Given the description of an element on the screen output the (x, y) to click on. 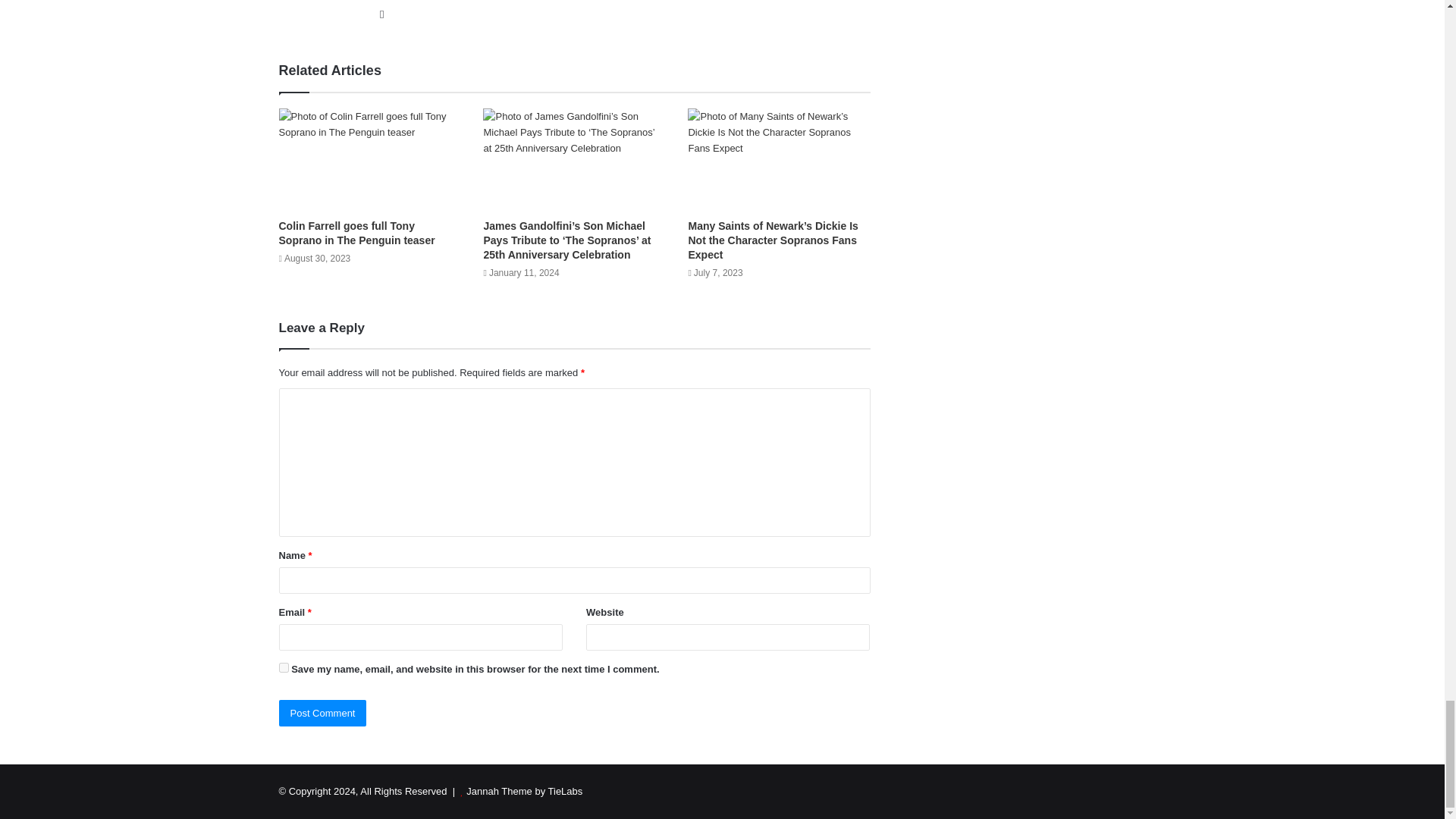
Post Comment (322, 713)
Post Comment (322, 713)
yes (283, 667)
Website (381, 13)
